Given the description of an element on the screen output the (x, y) to click on. 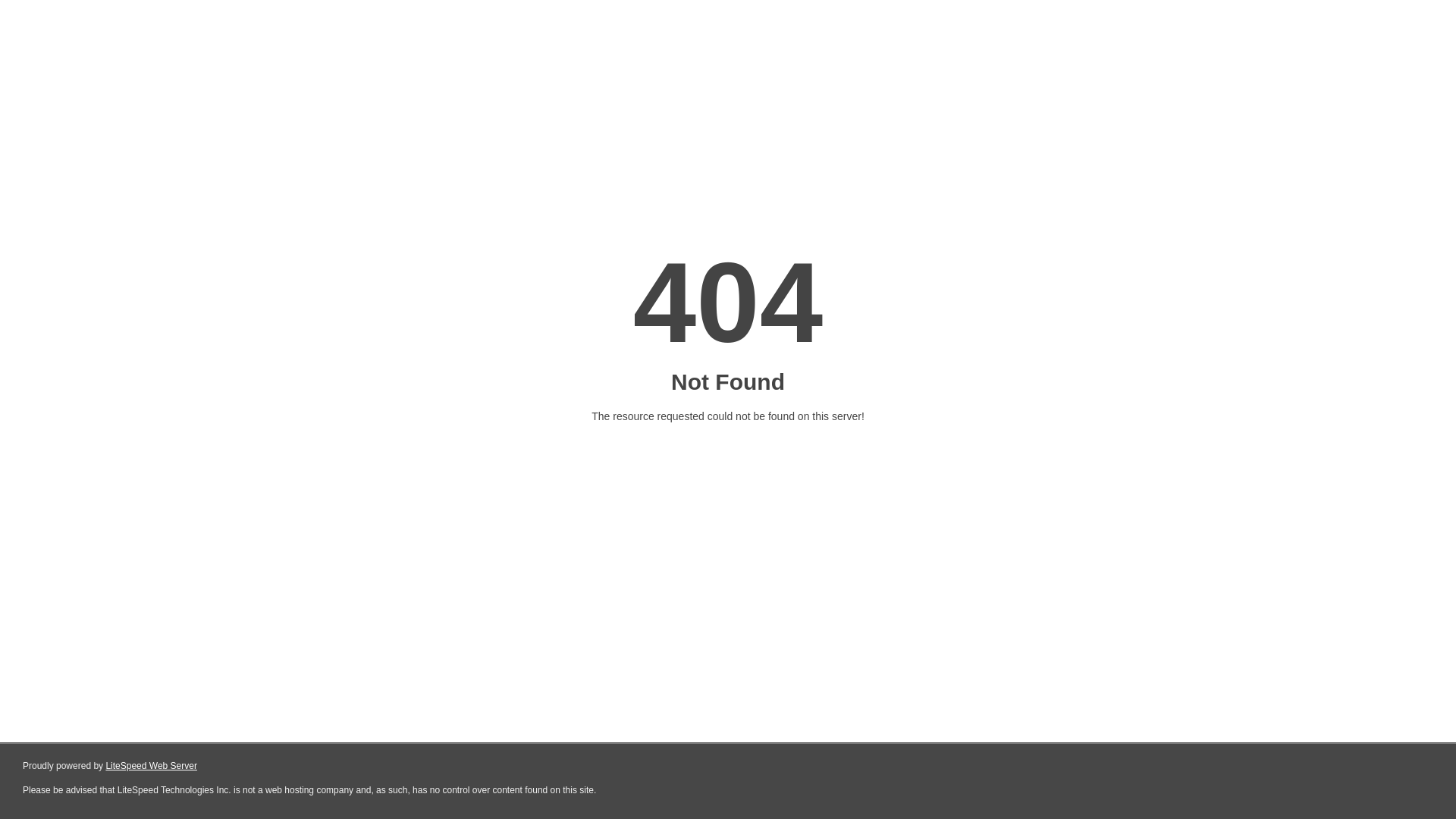
LiteSpeed Web Server Element type: text (151, 765)
